Given the description of an element on the screen output the (x, y) to click on. 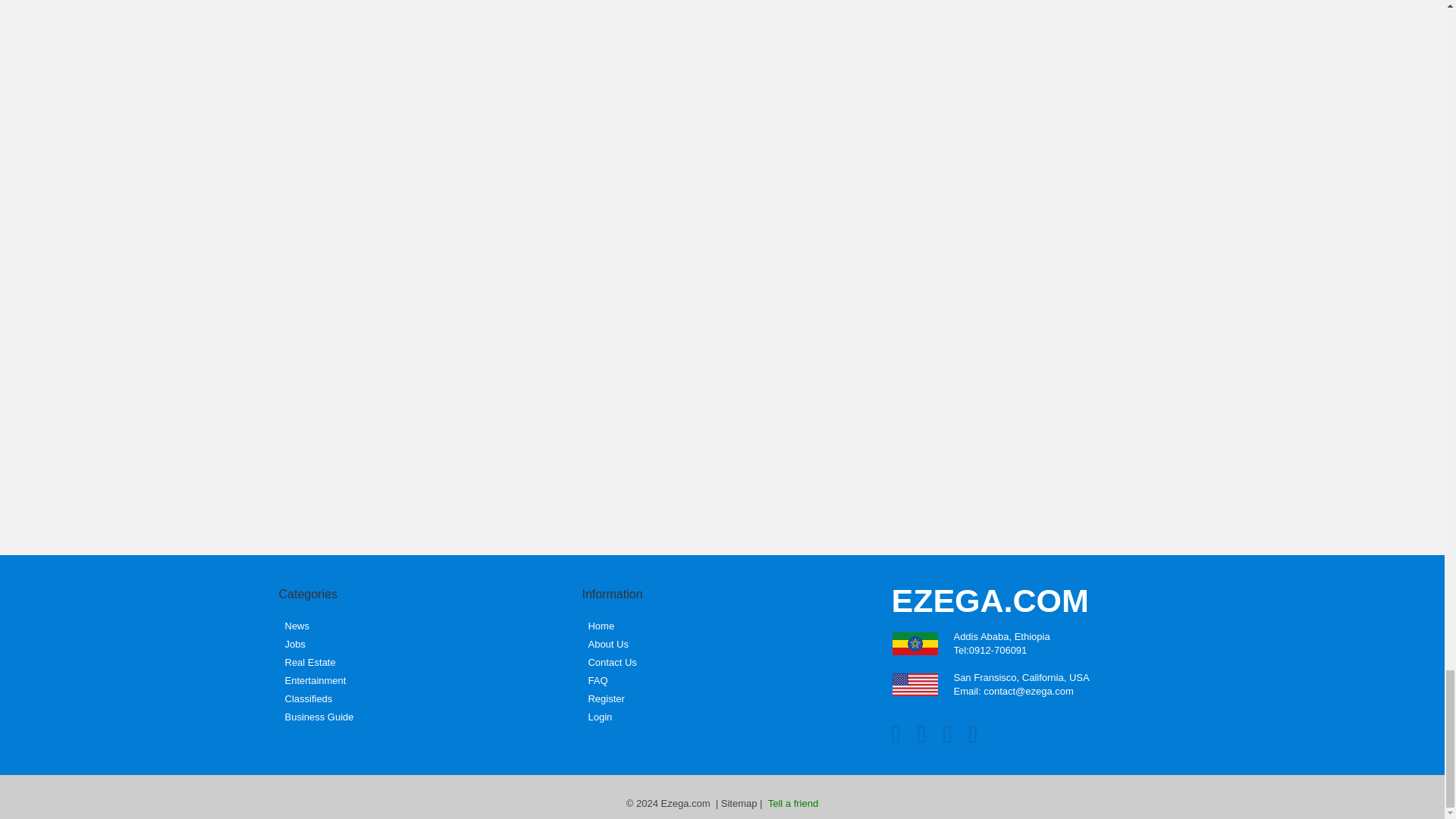
Business Guide (319, 717)
Classifieds (309, 699)
About Us (607, 644)
Contact Us (612, 662)
Community (315, 680)
News (297, 626)
Jobs (295, 644)
Real Estate (310, 662)
Home (601, 626)
